Given the description of an element on the screen output the (x, y) to click on. 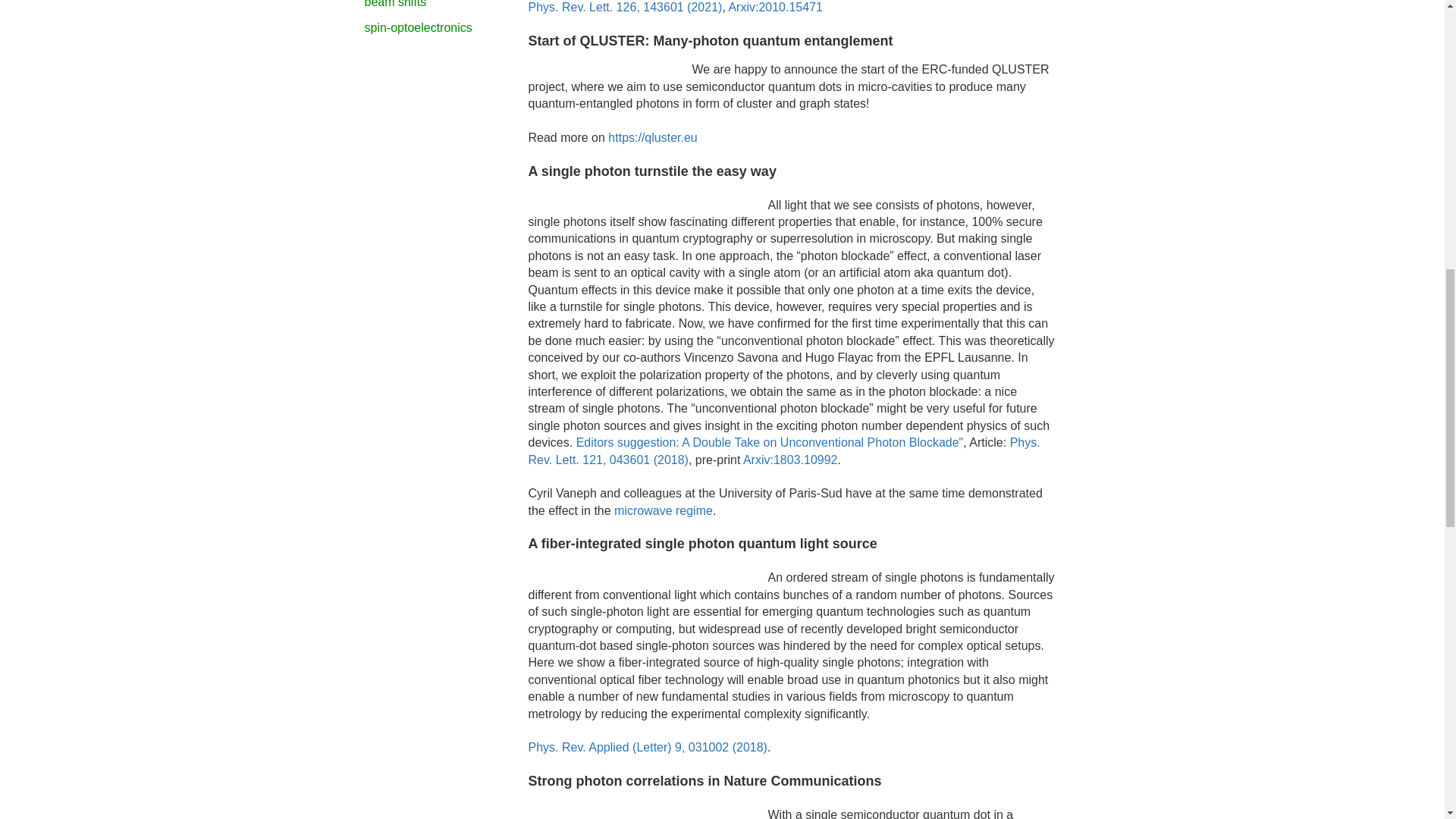
beam shifts (395, 4)
Arxiv:2010.15471 (775, 6)
spin-optoelectronics (417, 27)
